Given the description of an element on the screen output the (x, y) to click on. 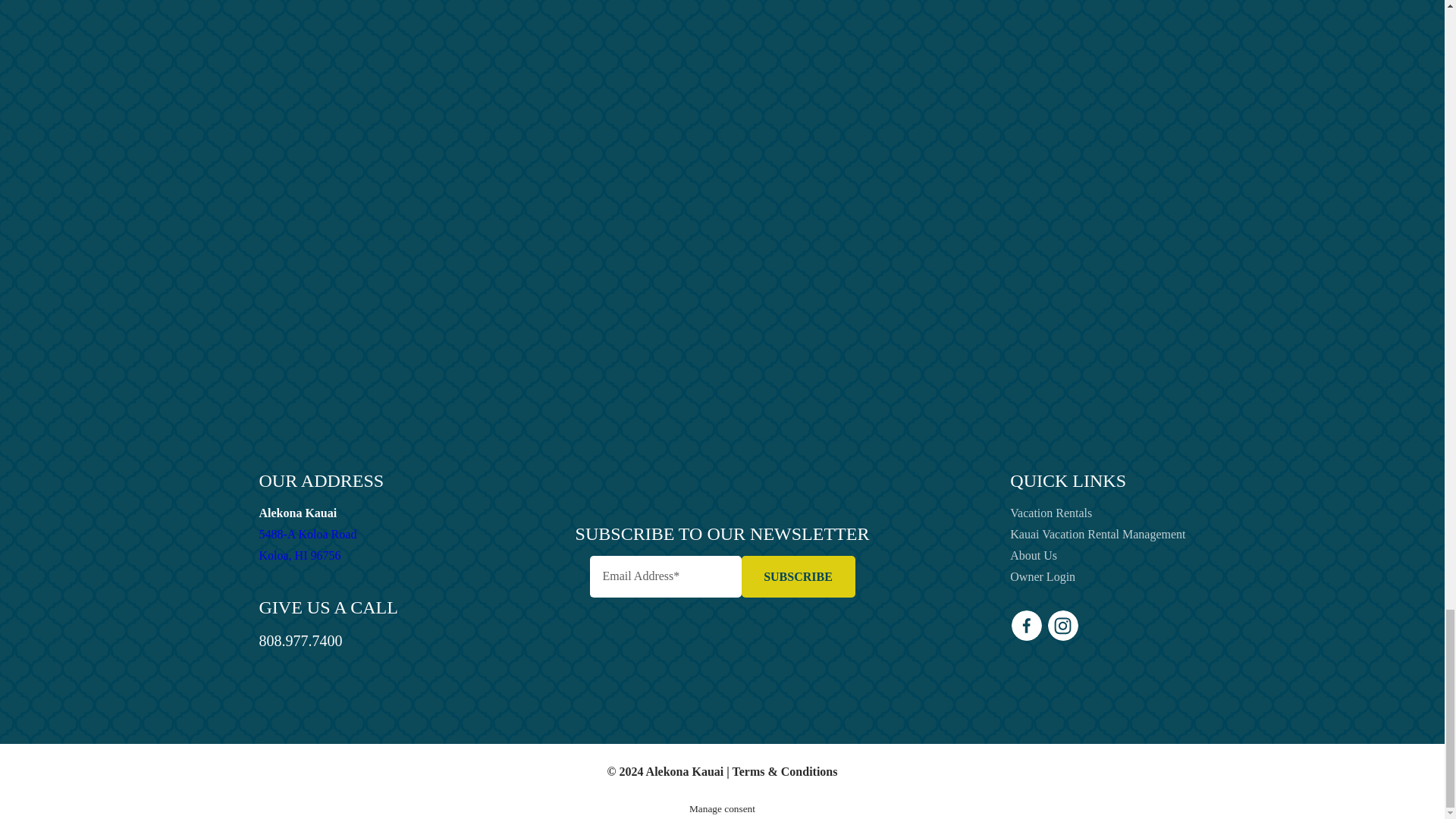
FOOD (944, 269)
FEATURED (959, 235)
ACTIVITIES (1090, 15)
Subscribe (961, 200)
SHOPPING (798, 576)
VACATION RENTALS (957, 339)
HOLIDAYS (986, 374)
